Given the description of an element on the screen output the (x, y) to click on. 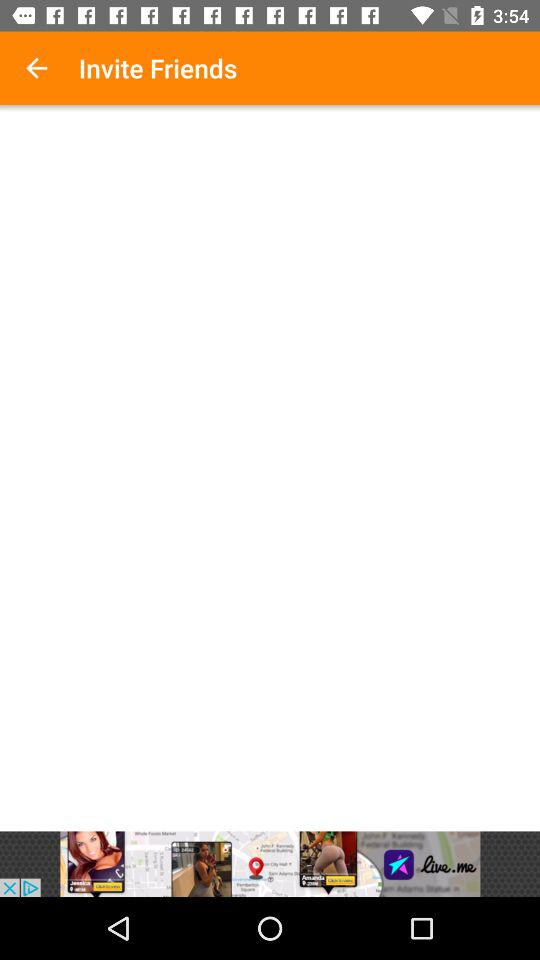
advertisement banner (270, 864)
